Given the description of an element on the screen output the (x, y) to click on. 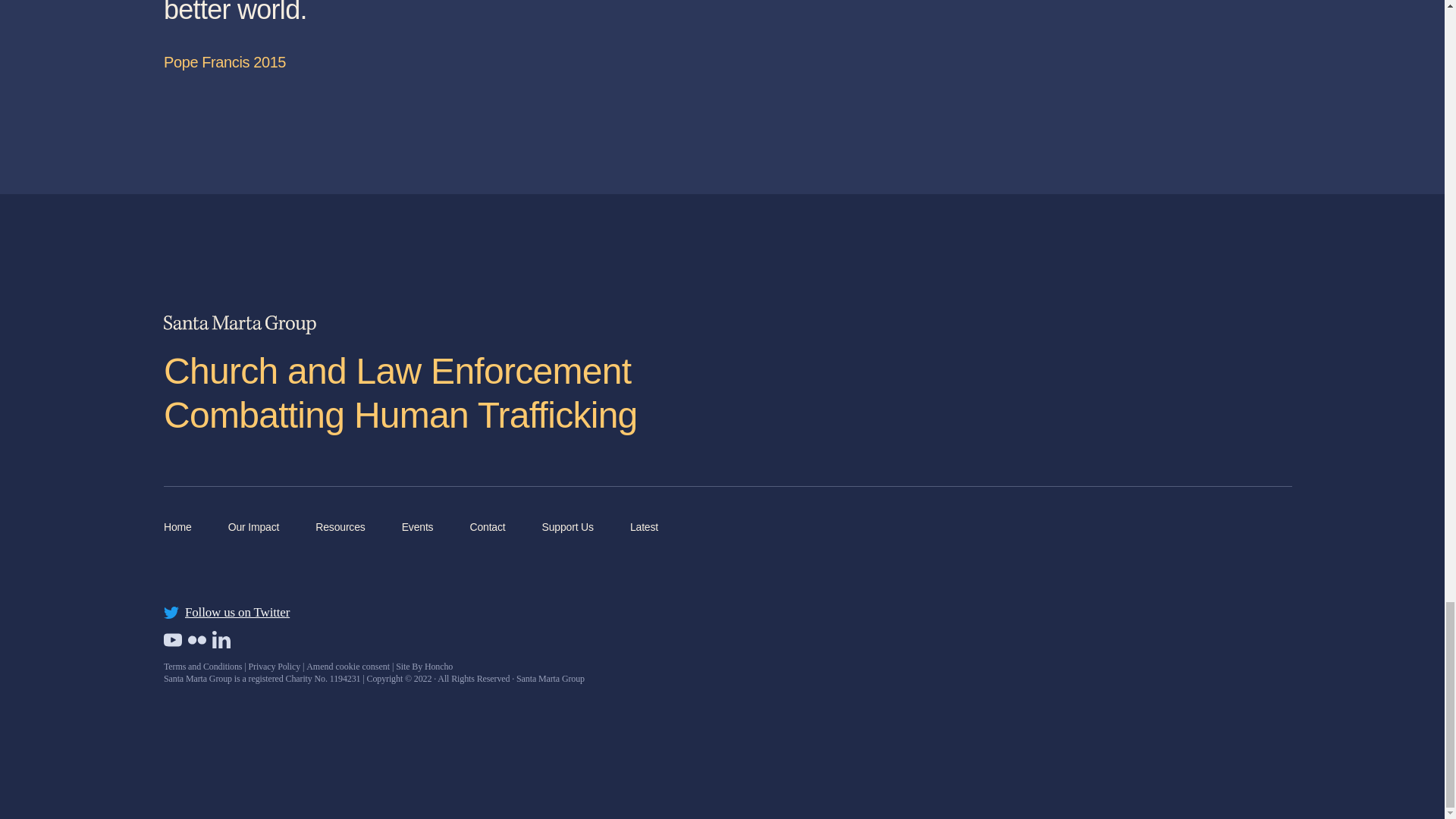
Support Us (567, 528)
Return to homepage (242, 324)
Latest (644, 528)
Linkedin Page (221, 639)
Contact (486, 528)
Terms and Conditions (202, 666)
Events (417, 528)
Privacy Policy (273, 666)
Youtube Page (172, 639)
Home (177, 528)
Our Impact (253, 528)
Resources (340, 528)
Flickr Page (226, 611)
